Given the description of an element on the screen output the (x, y) to click on. 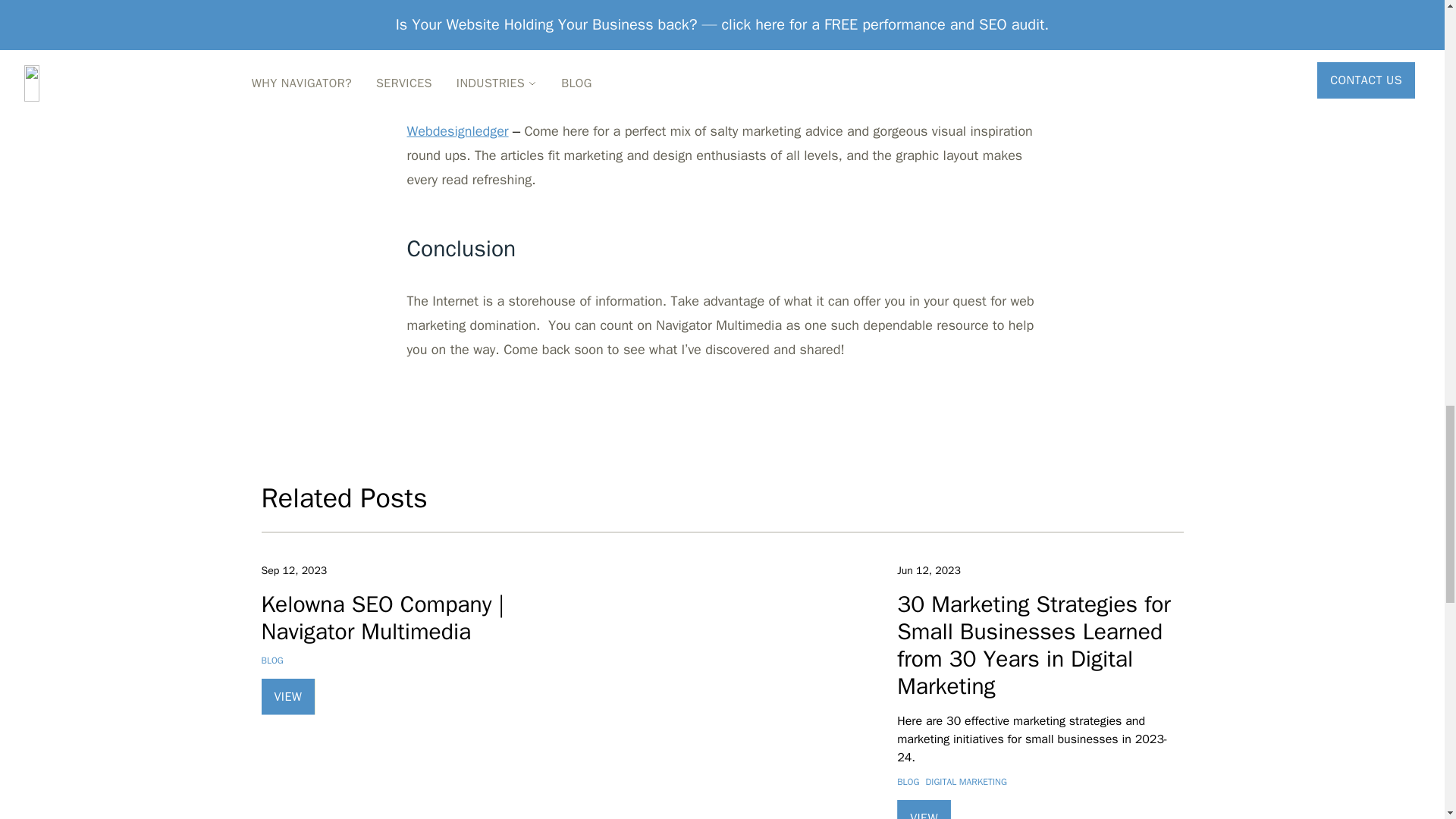
Webdesignledger (457, 130)
BLOG (271, 660)
VIEW (290, 699)
